Given the description of an element on the screen output the (x, y) to click on. 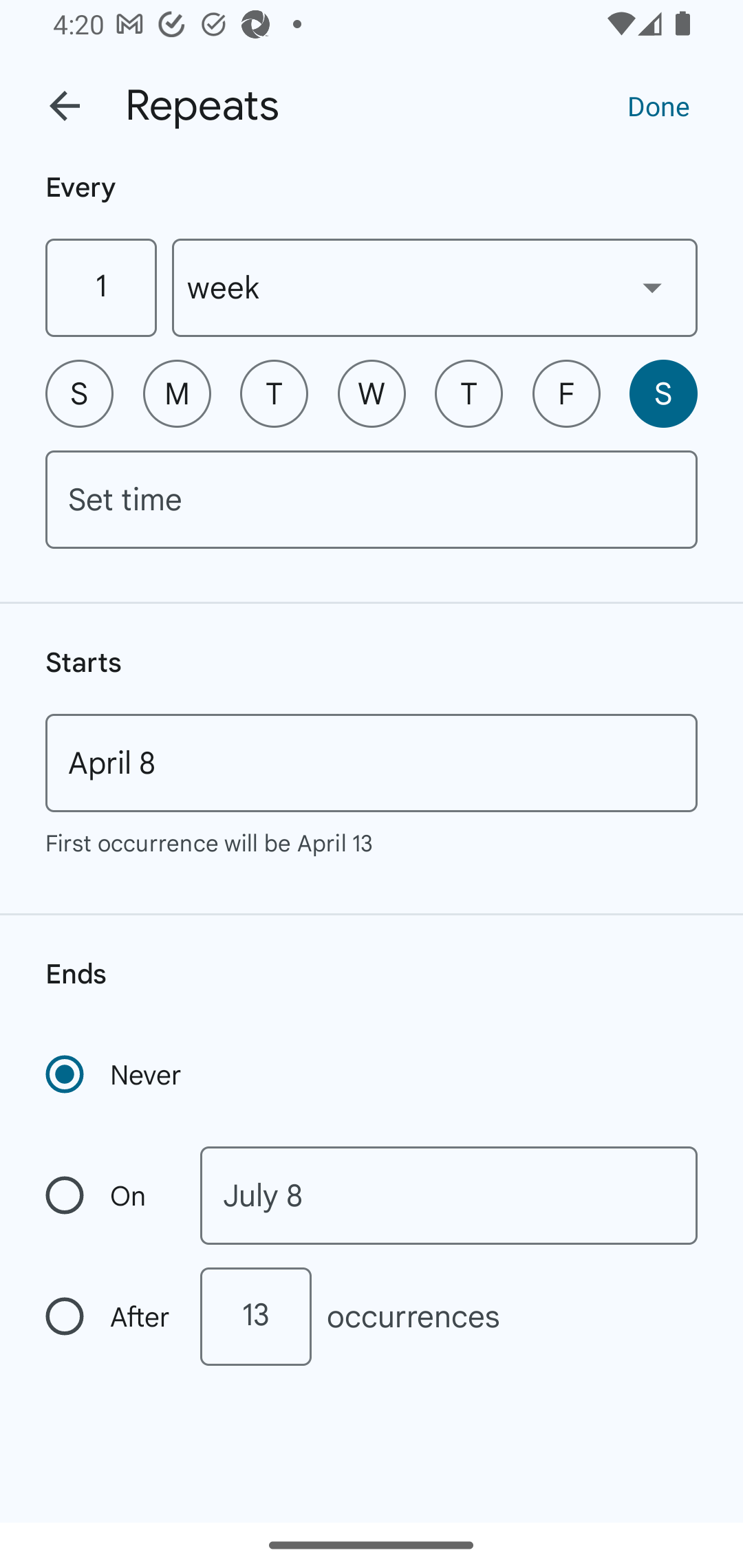
Back (64, 105)
Done (658, 105)
1 (100, 287)
week (434, 287)
Show dropdown menu (652, 286)
S Sunday (79, 393)
M Monday (177, 393)
T Tuesday (273, 393)
W Wednesday (371, 393)
T Thursday (468, 393)
F Friday (566, 393)
S Saturday, selected (663, 393)
Set time (371, 499)
April 8 (371, 762)
Never Recurrence never ends (115, 1074)
July 8 (448, 1195)
On Recurrence ends on a specific date (109, 1195)
13 (255, 1315)
